Given the description of an element on the screen output the (x, y) to click on. 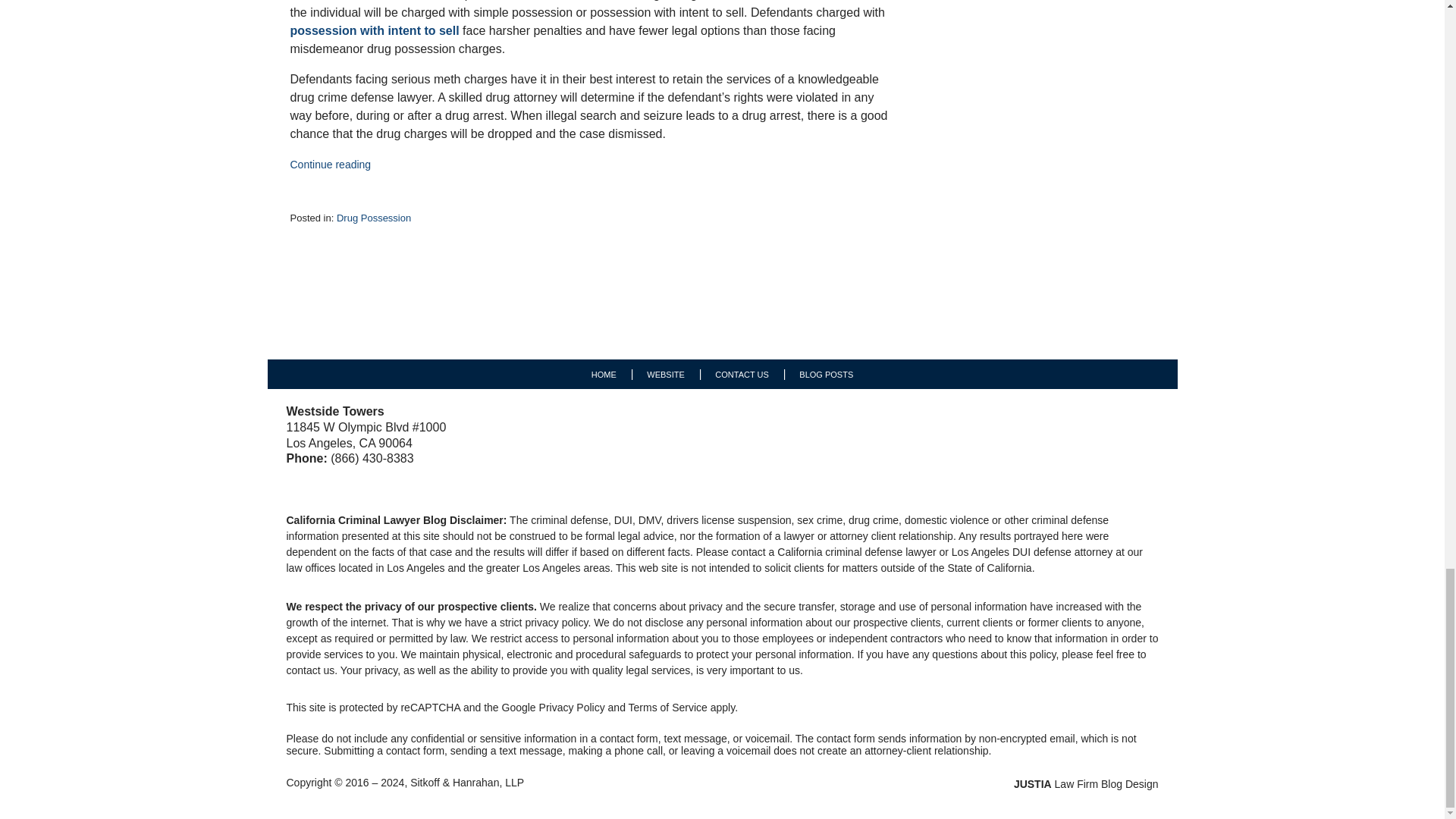
View all posts in Drug Possession (373, 217)
